Given the description of an element on the screen output the (x, y) to click on. 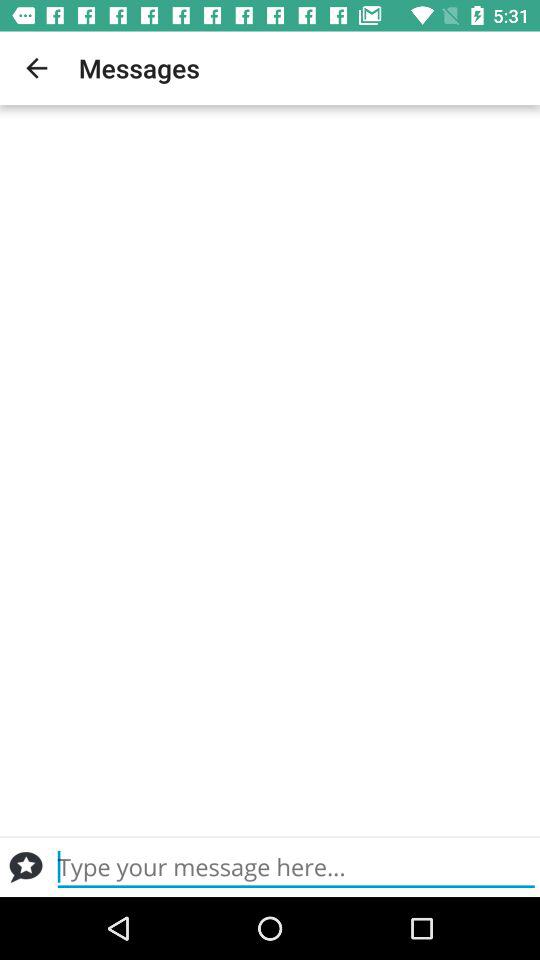
send a message (26, 867)
